Given the description of an element on the screen output the (x, y) to click on. 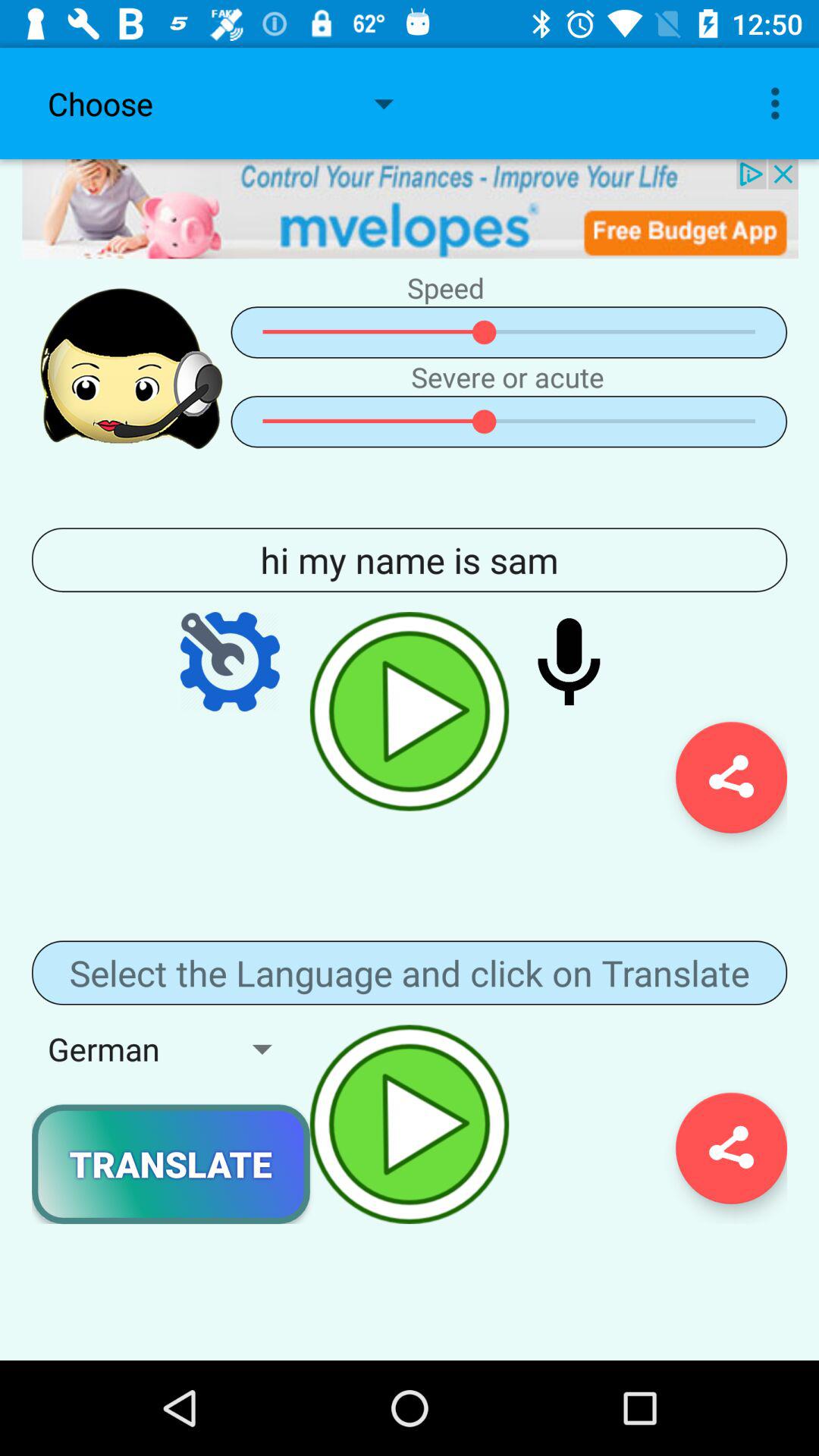
share the article (731, 777)
